Given the description of an element on the screen output the (x, y) to click on. 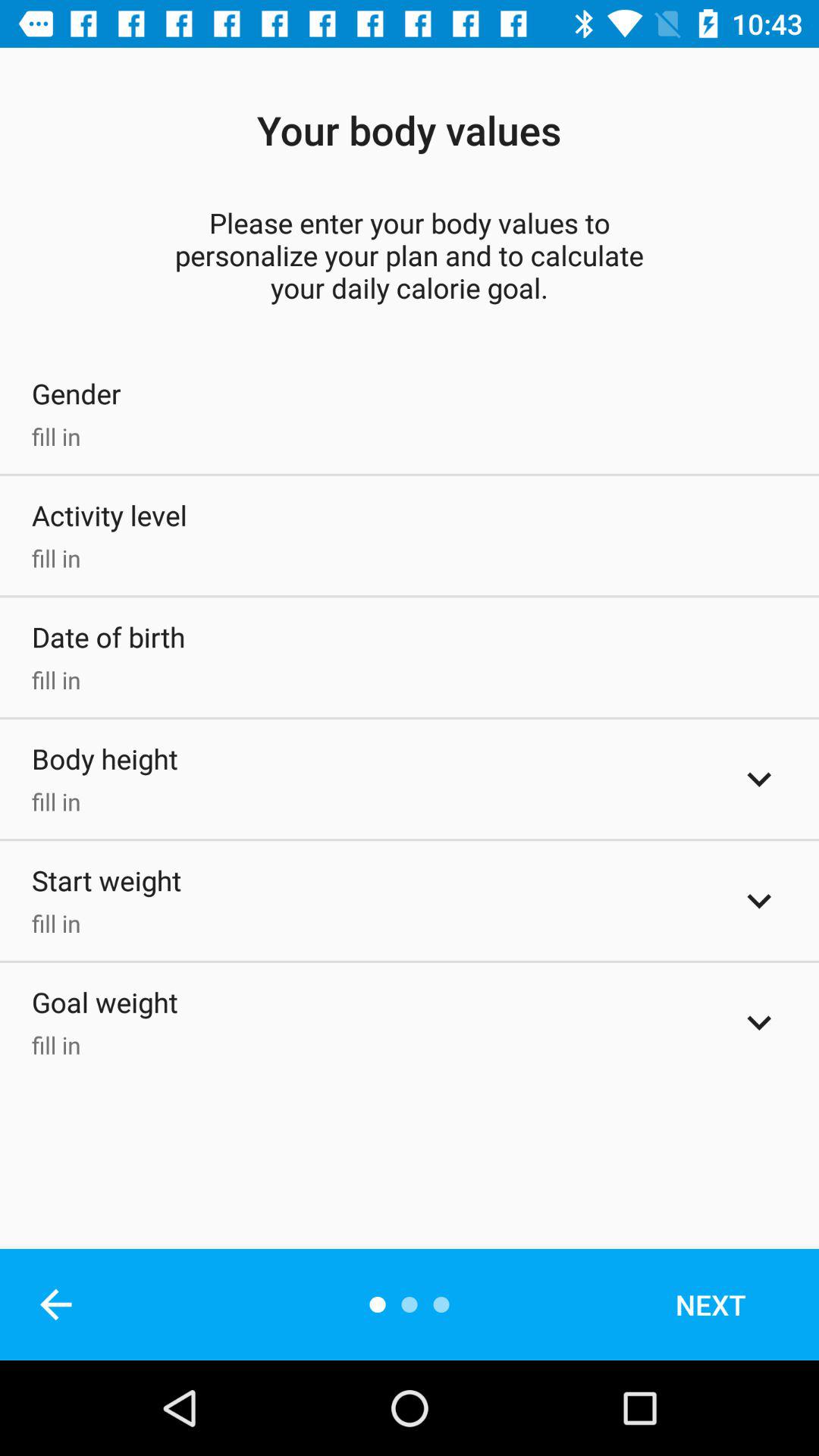
toggle body height arrow to fill in (759, 778)
